Given the description of an element on the screen output the (x, y) to click on. 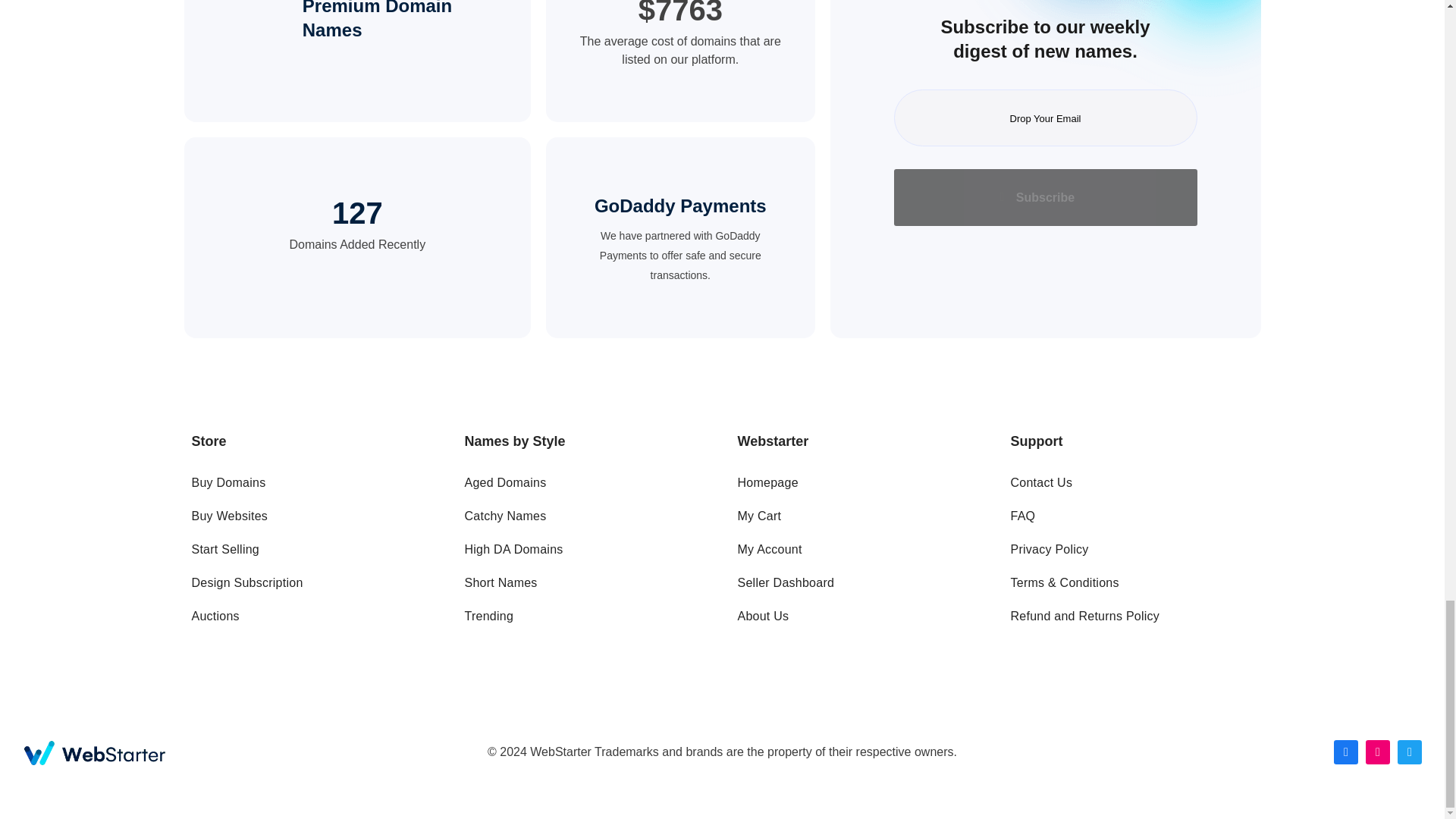
Subscribe (1044, 197)
